Given the description of an element on the screen output the (x, y) to click on. 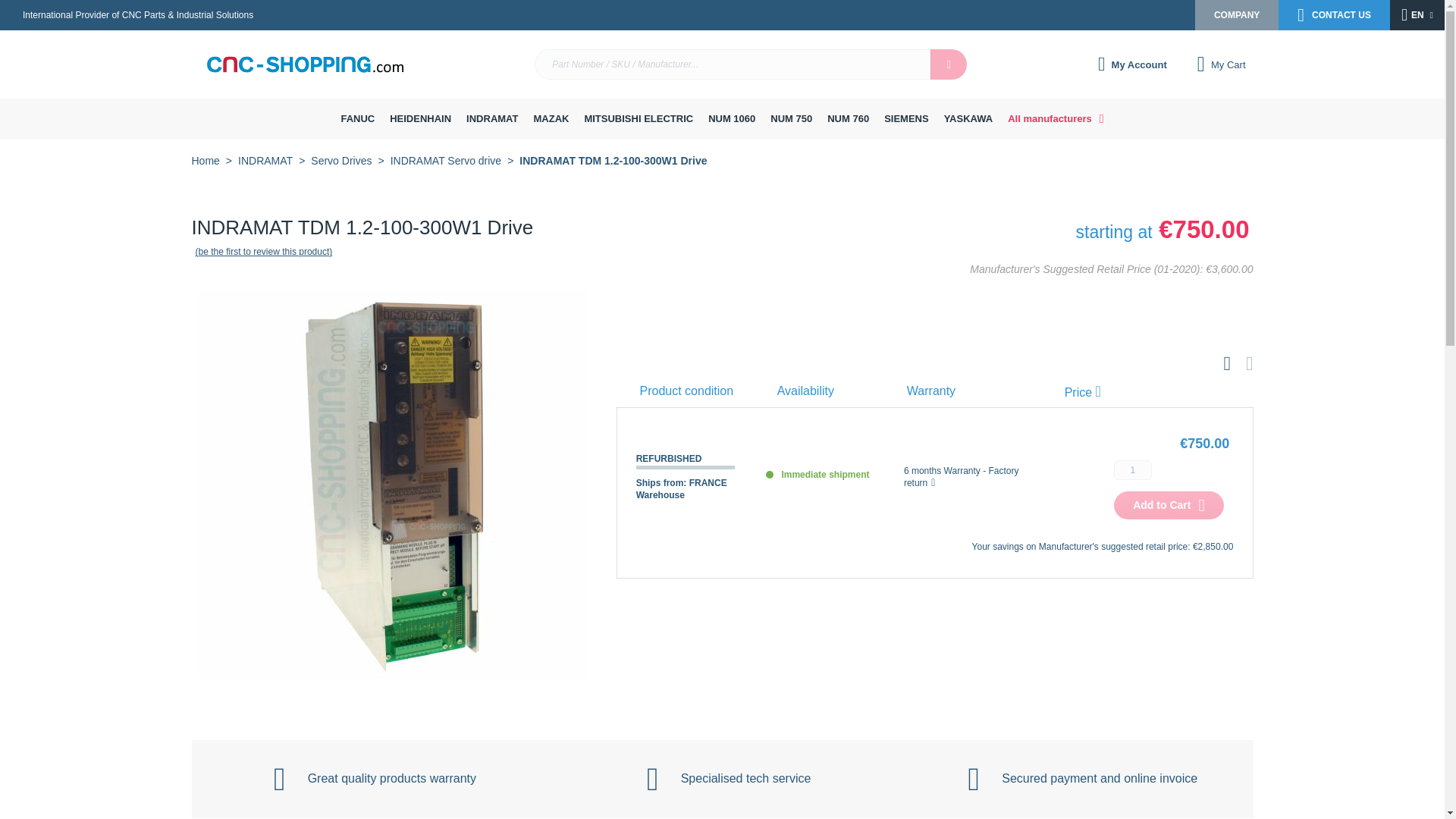
Menu (14, 103)
CNC-Shopping Europe (304, 64)
CONTACT US (1334, 15)
My Account (1132, 64)
COMPANY (1236, 15)
FANUC (357, 118)
My Cart (1221, 64)
Contact Us (1334, 15)
Company (1236, 15)
Search (948, 64)
My Account (1132, 64)
1 (1132, 469)
CNC-Shopping Europe (308, 64)
Add to Cart (1168, 505)
Search (948, 64)
